Given the description of an element on the screen output the (x, y) to click on. 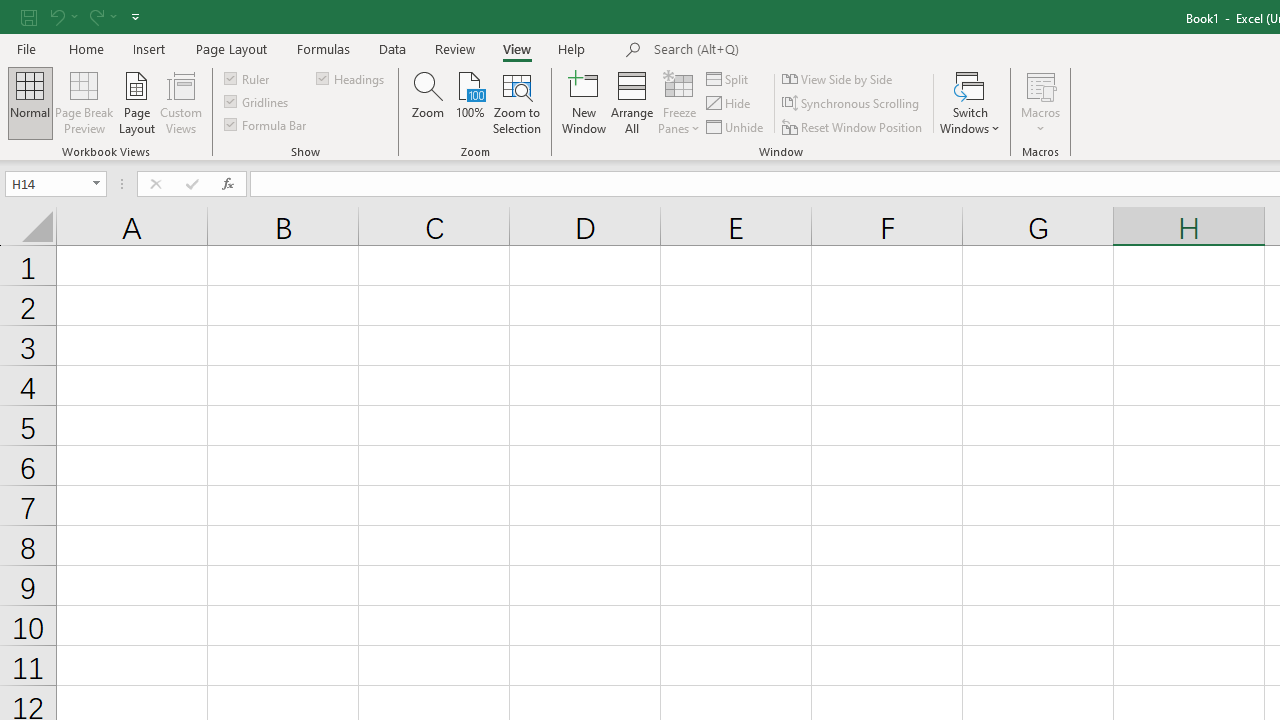
Custom Views... (180, 102)
Synchronous Scrolling (852, 103)
View Macros (1040, 84)
View Side by Side (838, 78)
Freeze Panes (678, 102)
